Given the description of an element on the screen output the (x, y) to click on. 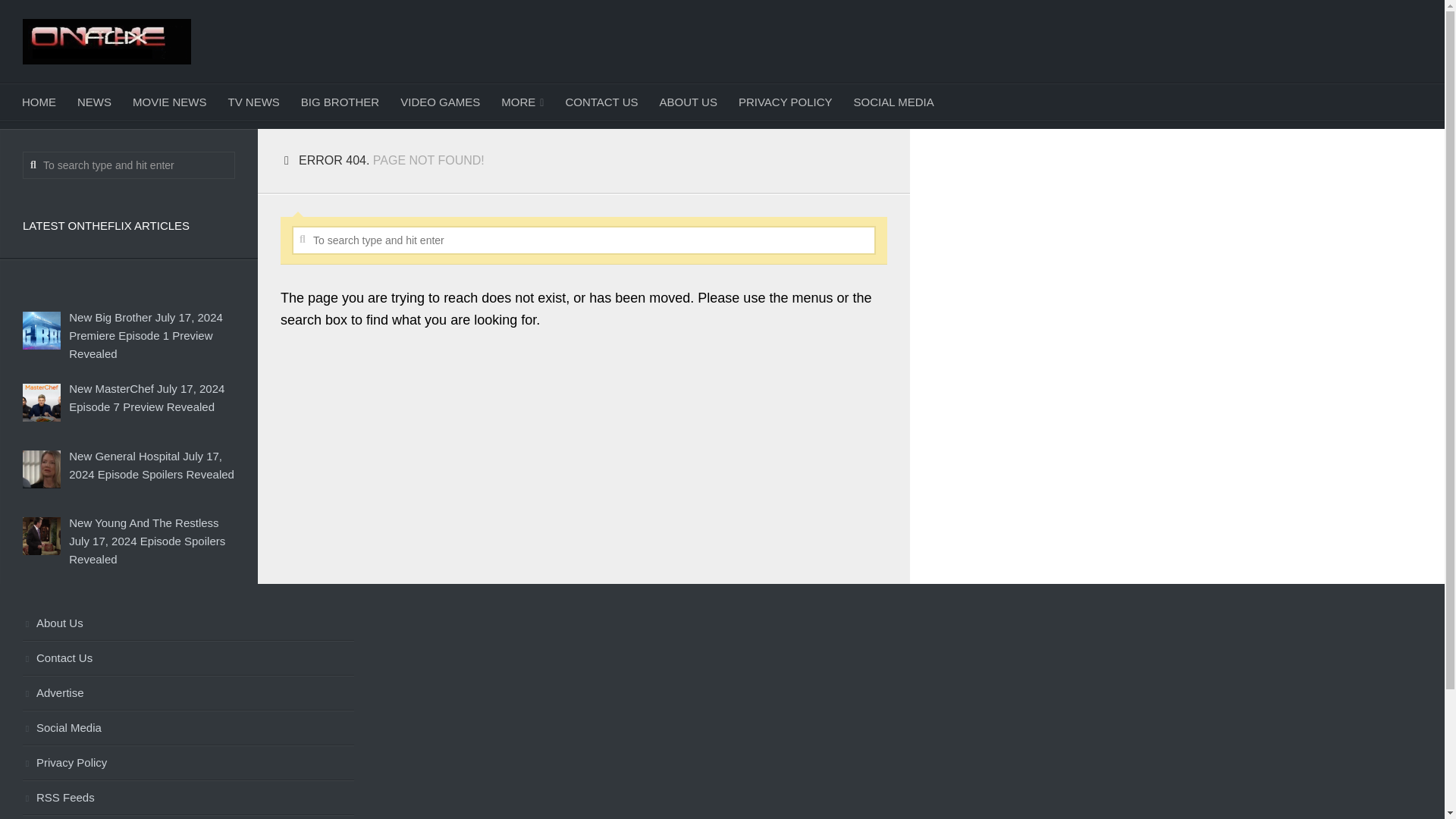
Contact Us (188, 658)
Social Media (188, 728)
VIDEO GAMES (440, 102)
CONTACT US (600, 102)
About Us (188, 623)
Advertise (188, 693)
To search type and hit enter (128, 165)
To search type and hit enter (584, 240)
PRIVACY POLICY (785, 102)
SOCIAL MEDIA (893, 102)
Privacy Policy (188, 763)
New MasterChef July 17, 2024 Episode 7 Preview Revealed (146, 397)
RSS Feeds (188, 798)
